Given the description of an element on the screen output the (x, y) to click on. 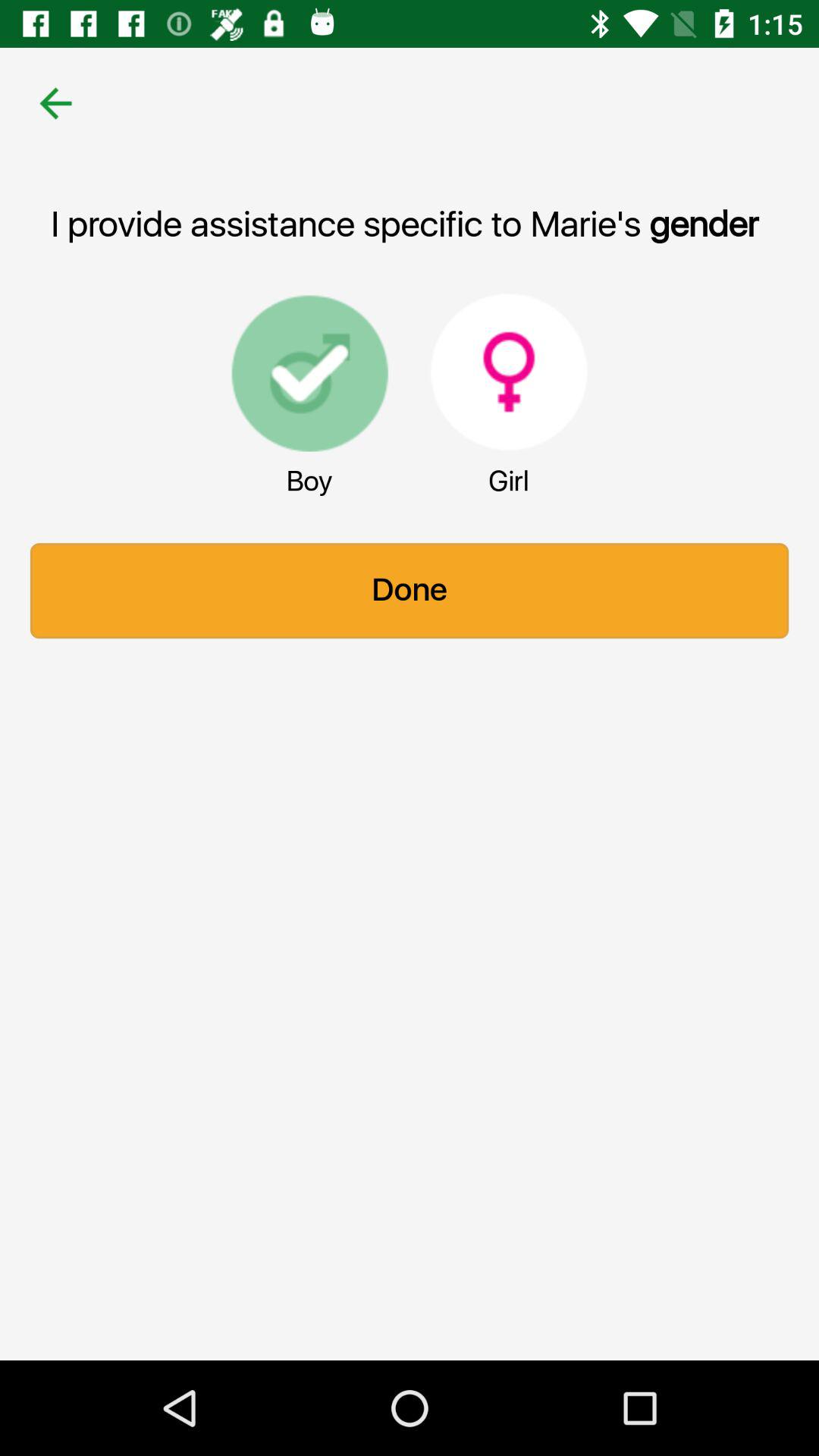
select the item below boy (409, 590)
